Given the description of an element on the screen output the (x, y) to click on. 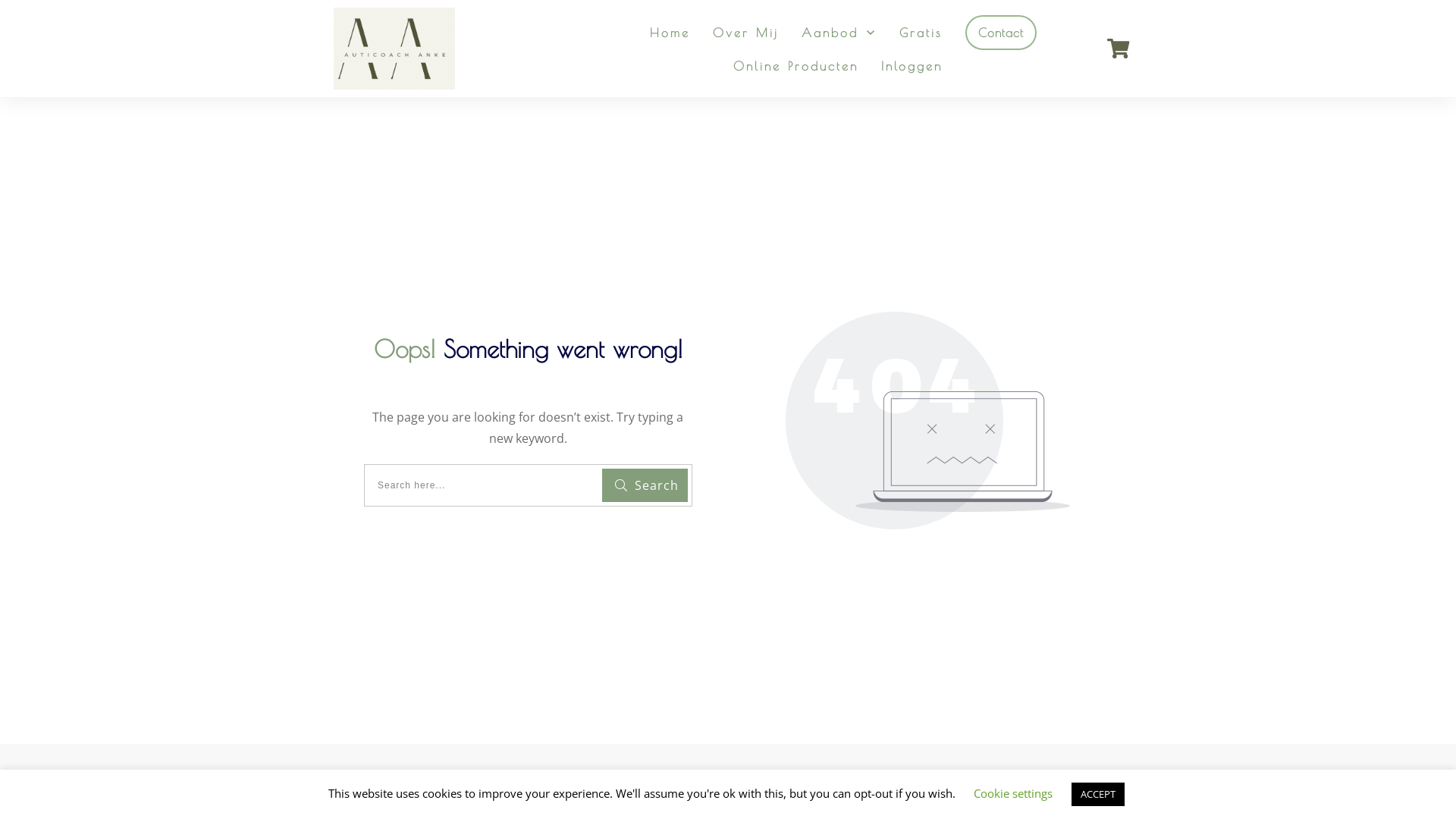
ACCEPT Element type: text (1096, 794)
Inloggen Element type: text (911, 65)
Aanbod Element type: text (838, 32)
404 Element type: hover (927, 420)
Search Element type: text (644, 485)
Gratis Element type: text (920, 32)
Online Producten Element type: text (795, 65)
Contact Element type: text (1000, 32)
Home Element type: text (669, 32)
Cookie settings Element type: text (1012, 792)
Over Mij Element type: text (745, 32)
